Given the description of an element on the screen output the (x, y) to click on. 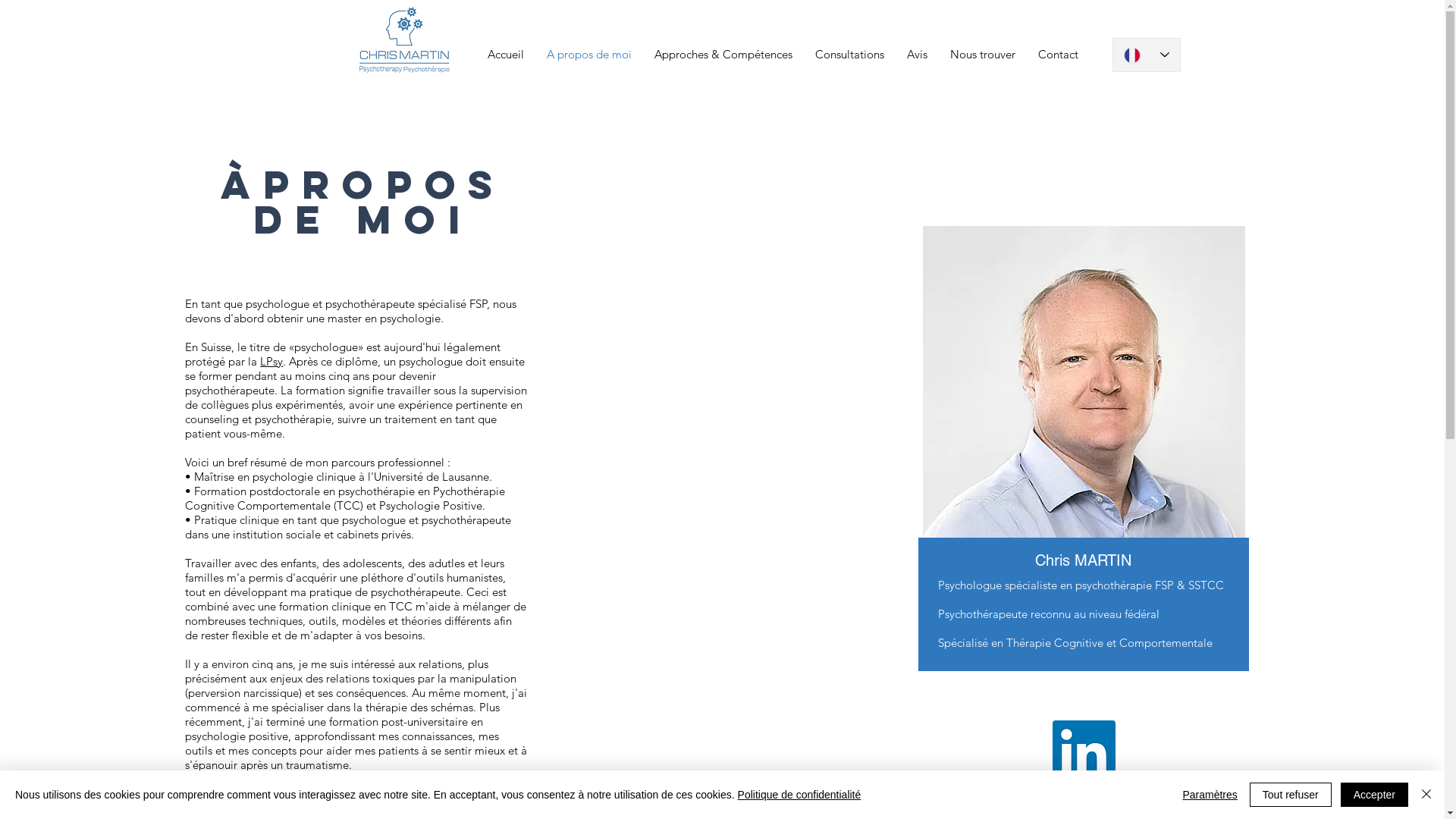
Avis Element type: text (916, 54)
Contact Element type: text (1057, 54)
Accueil Element type: text (505, 54)
LPsy Element type: text (271, 361)
A propos de moi Element type: text (589, 54)
Accepter Element type: text (1374, 794)
Nous trouver Element type: text (982, 54)
Tout refuser Element type: text (1290, 794)
Consultations Element type: text (849, 54)
